Given the description of an element on the screen output the (x, y) to click on. 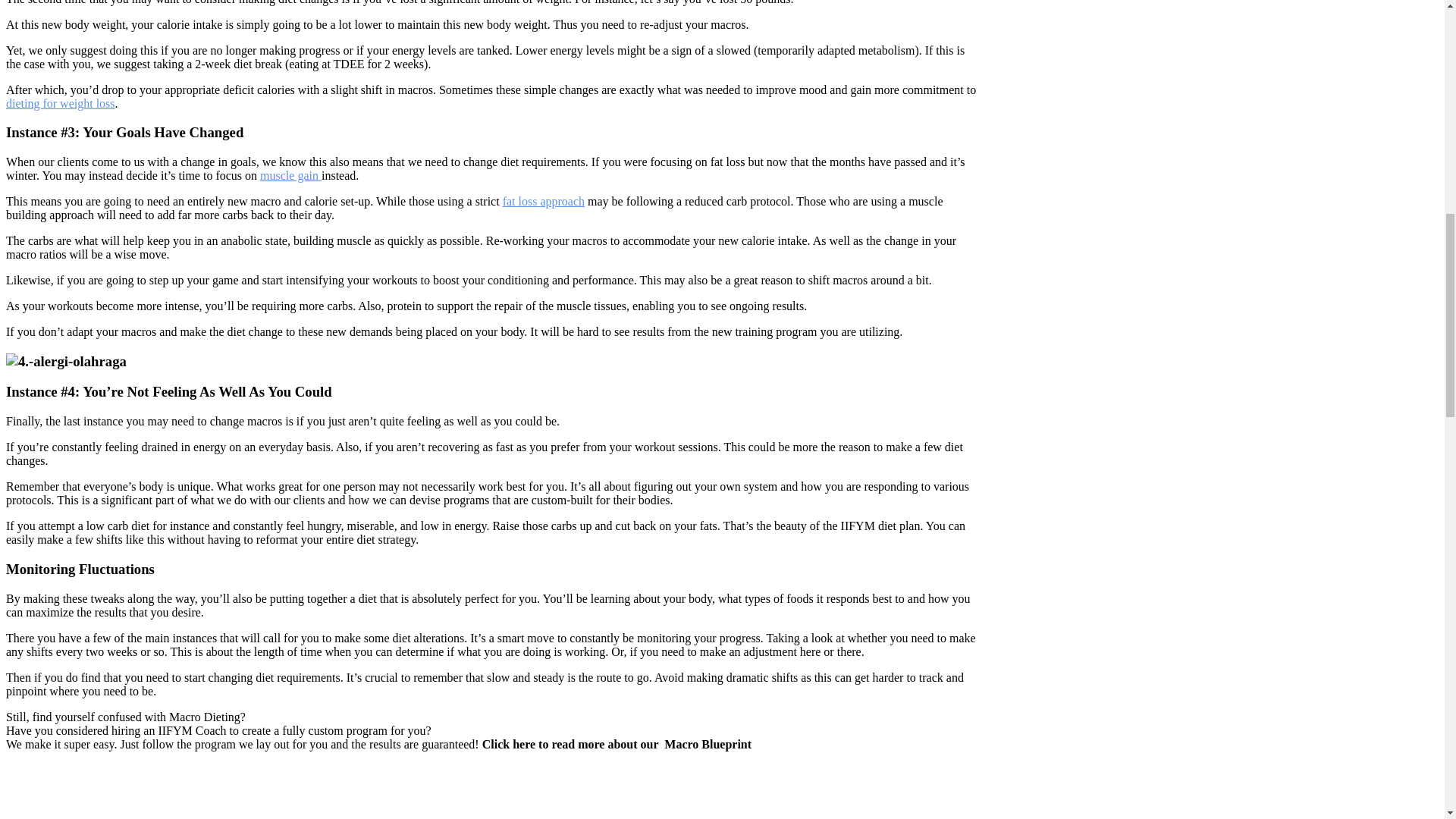
fat loss approach (543, 201)
dieting for weight loss (60, 103)
4.-alergi-olahraga (65, 361)
muscle gain (290, 174)
